Given the description of an element on the screen output the (x, y) to click on. 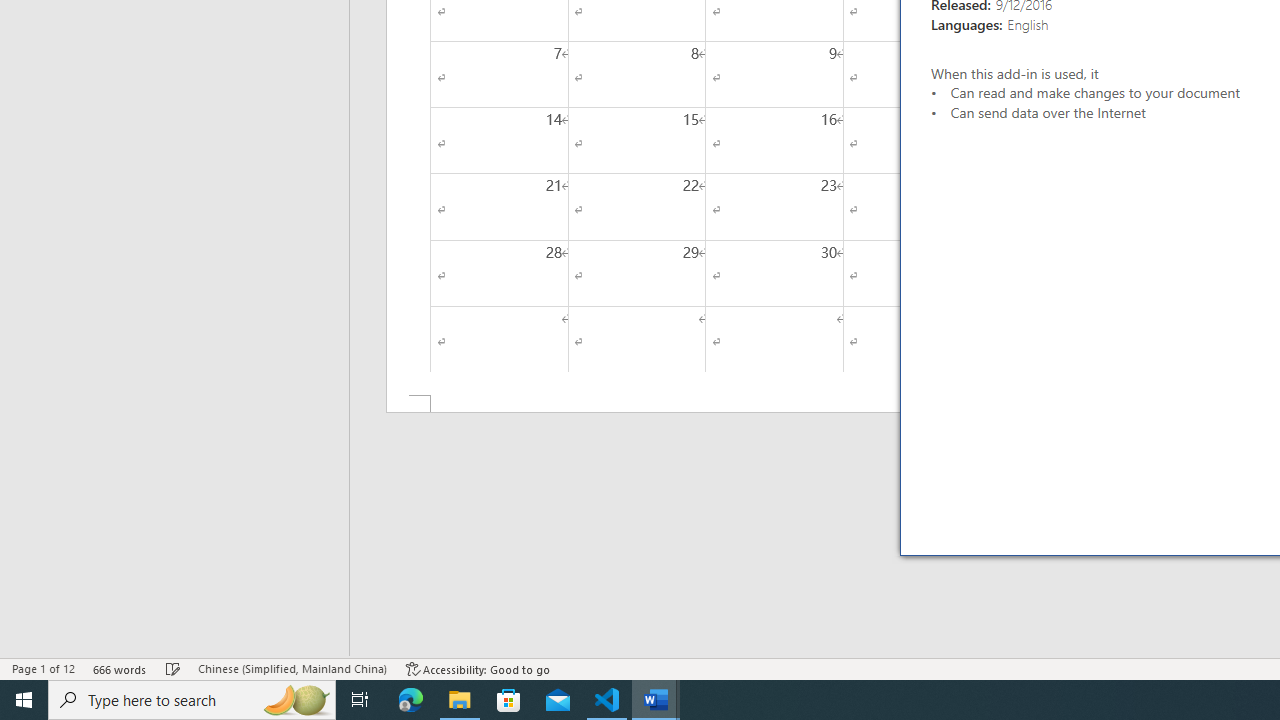
Check out our documentation. (1179, 214)
Page Number Page 1 of 12 (43, 668)
